Given the description of an element on the screen output the (x, y) to click on. 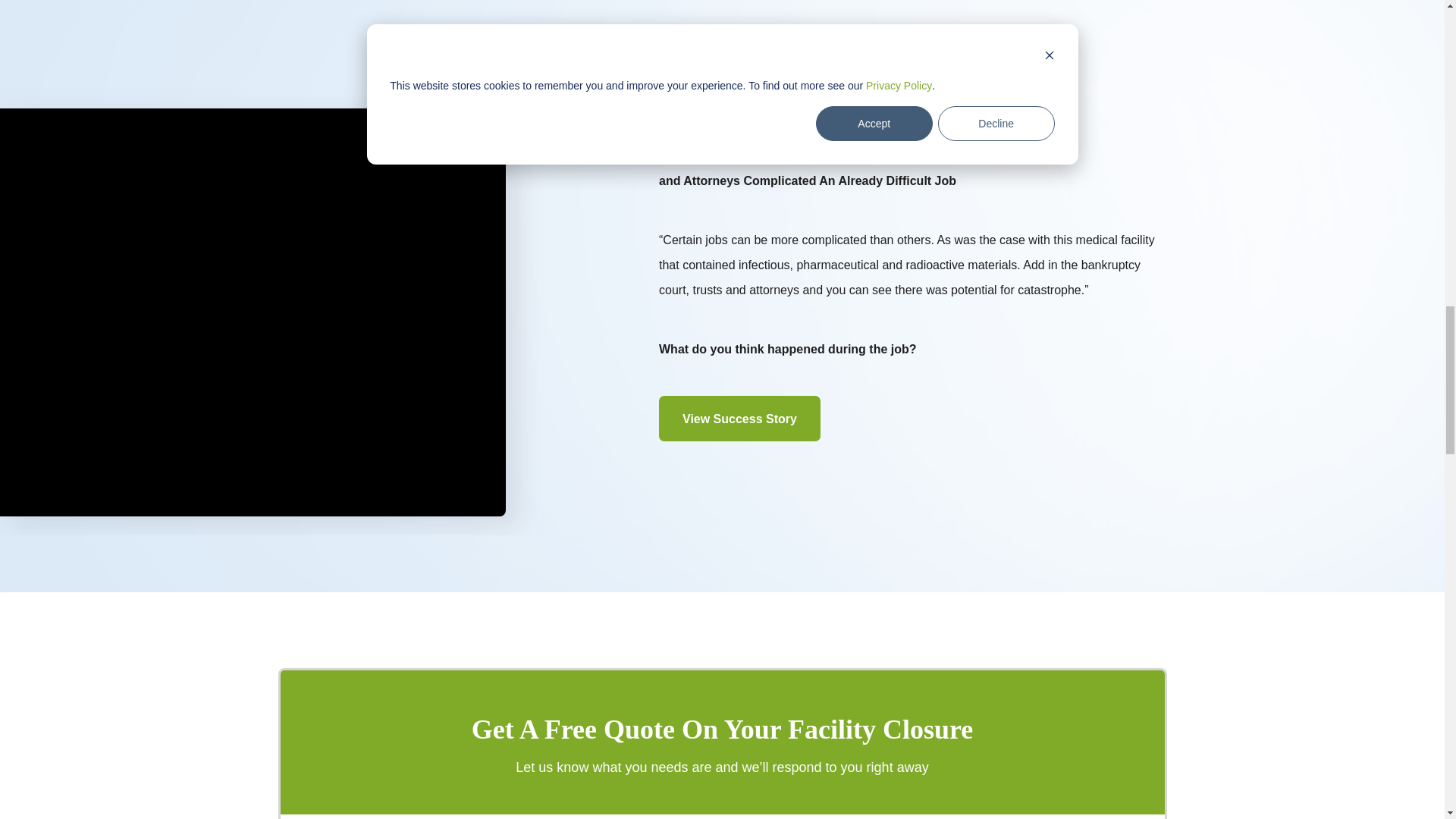
View Success Story (740, 418)
